Given the description of an element on the screen output the (x, y) to click on. 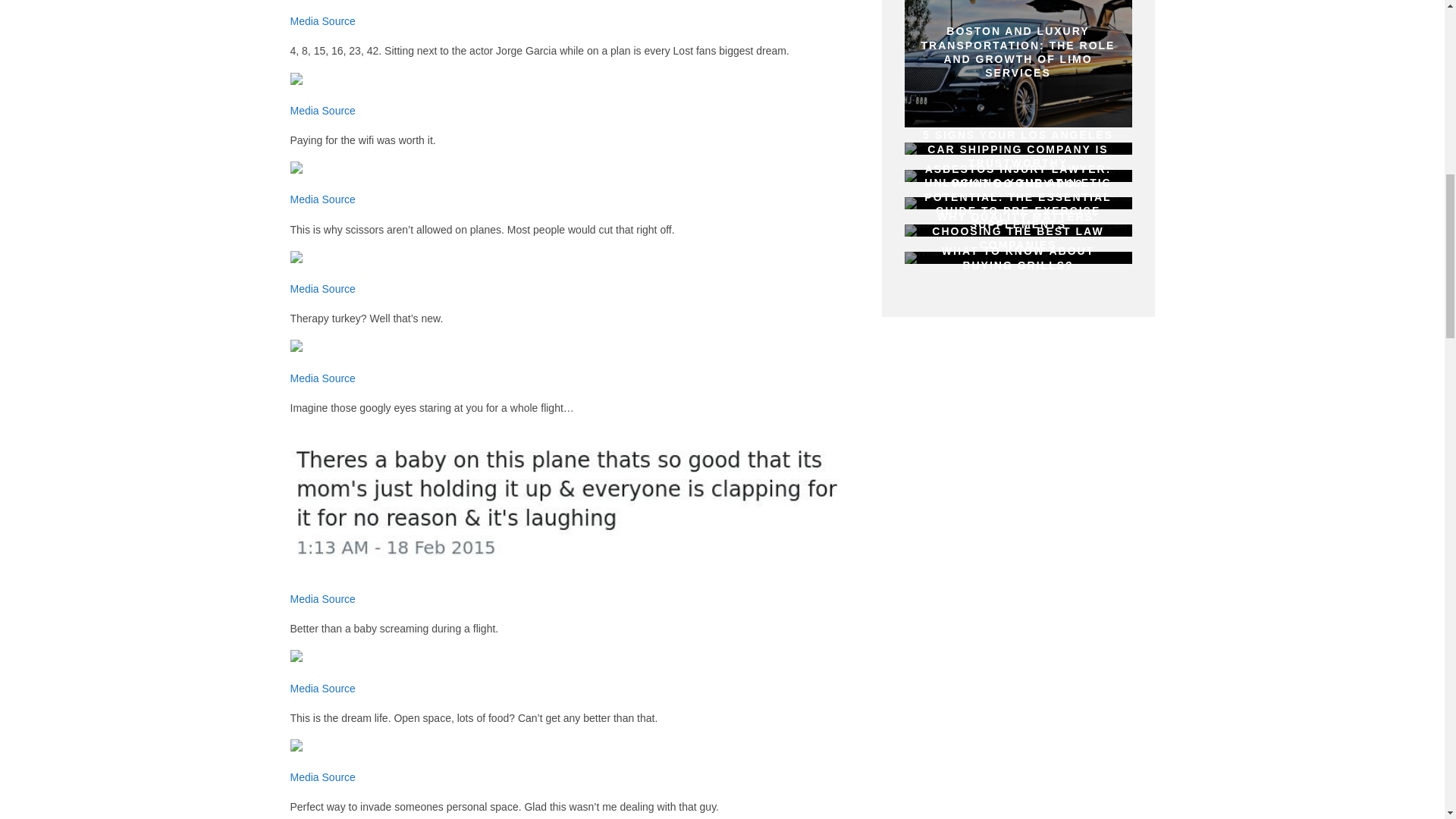
Media Source (322, 377)
Media Source (322, 21)
Media Source (322, 199)
Media Source (322, 598)
5 Signs Your Los Angeles Car Shipping Company Is Trustworthy (1017, 148)
Media Source (322, 110)
Media Source (322, 688)
Media Source (322, 288)
Media Source (322, 776)
